Given the description of an element on the screen output the (x, y) to click on. 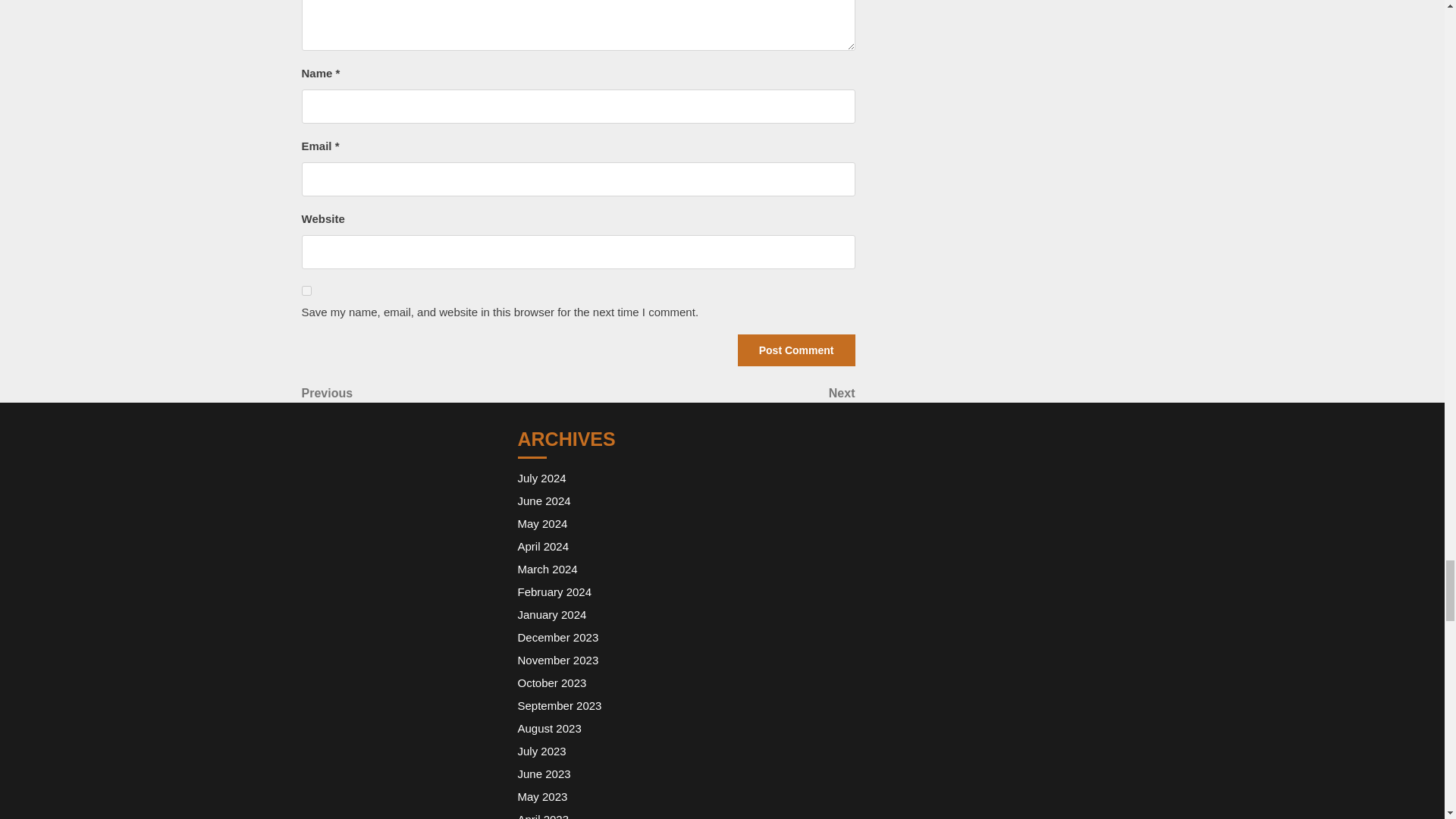
Post Comment (716, 393)
June 2024 (797, 350)
April 2024 (543, 500)
yes (542, 545)
July 2024 (439, 393)
Post Comment (306, 290)
May 2024 (541, 477)
